Given the description of an element on the screen output the (x, y) to click on. 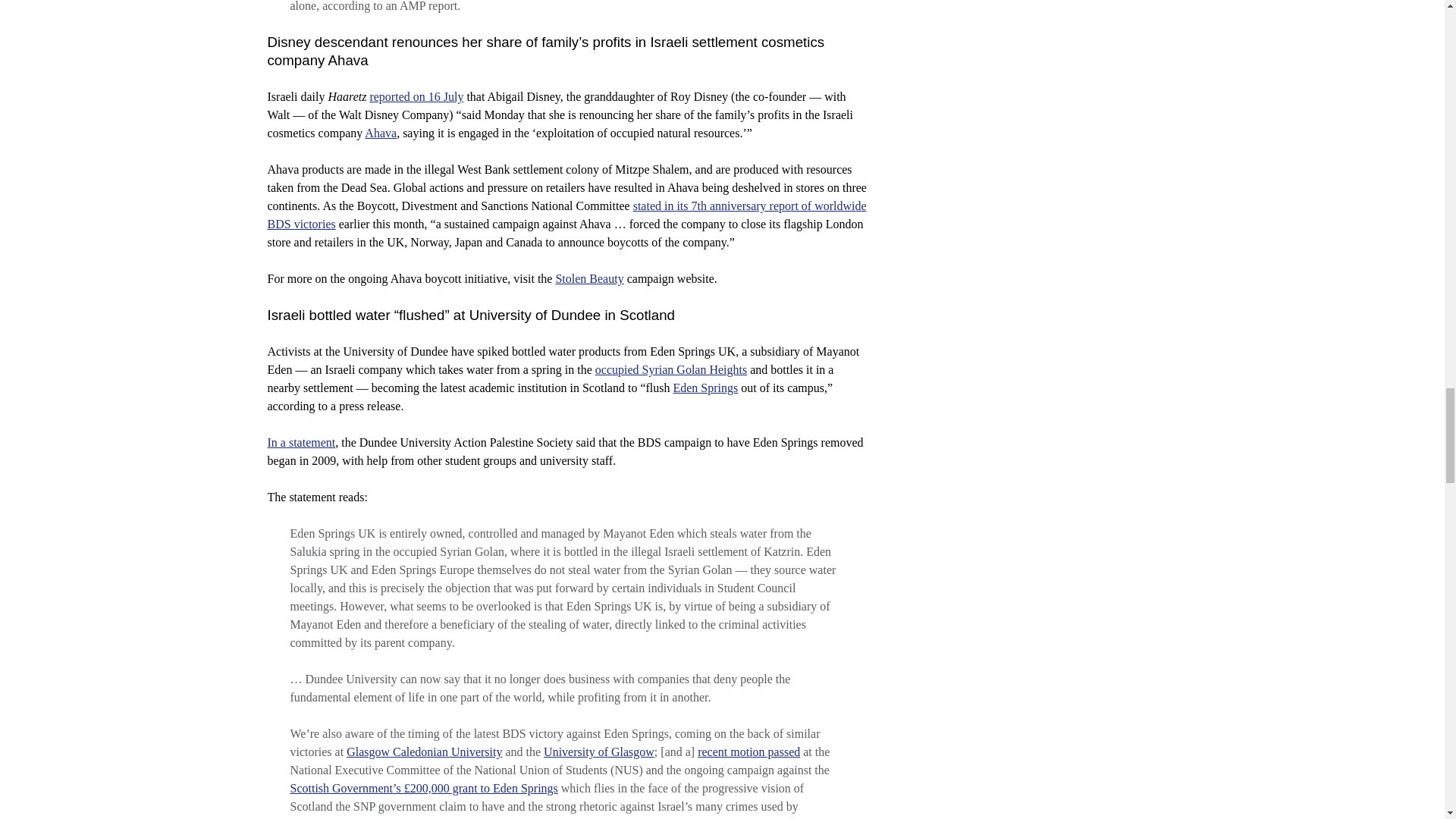
reported on 16 July (416, 96)
Glasgow Caledonian University (424, 751)
Stolen Beauty (588, 278)
Ahava (380, 132)
In a statement (300, 441)
Eden Springs (705, 387)
occupied Syrian Golan Heights (670, 369)
University of Glasgow (598, 751)
